Given the description of an element on the screen output the (x, y) to click on. 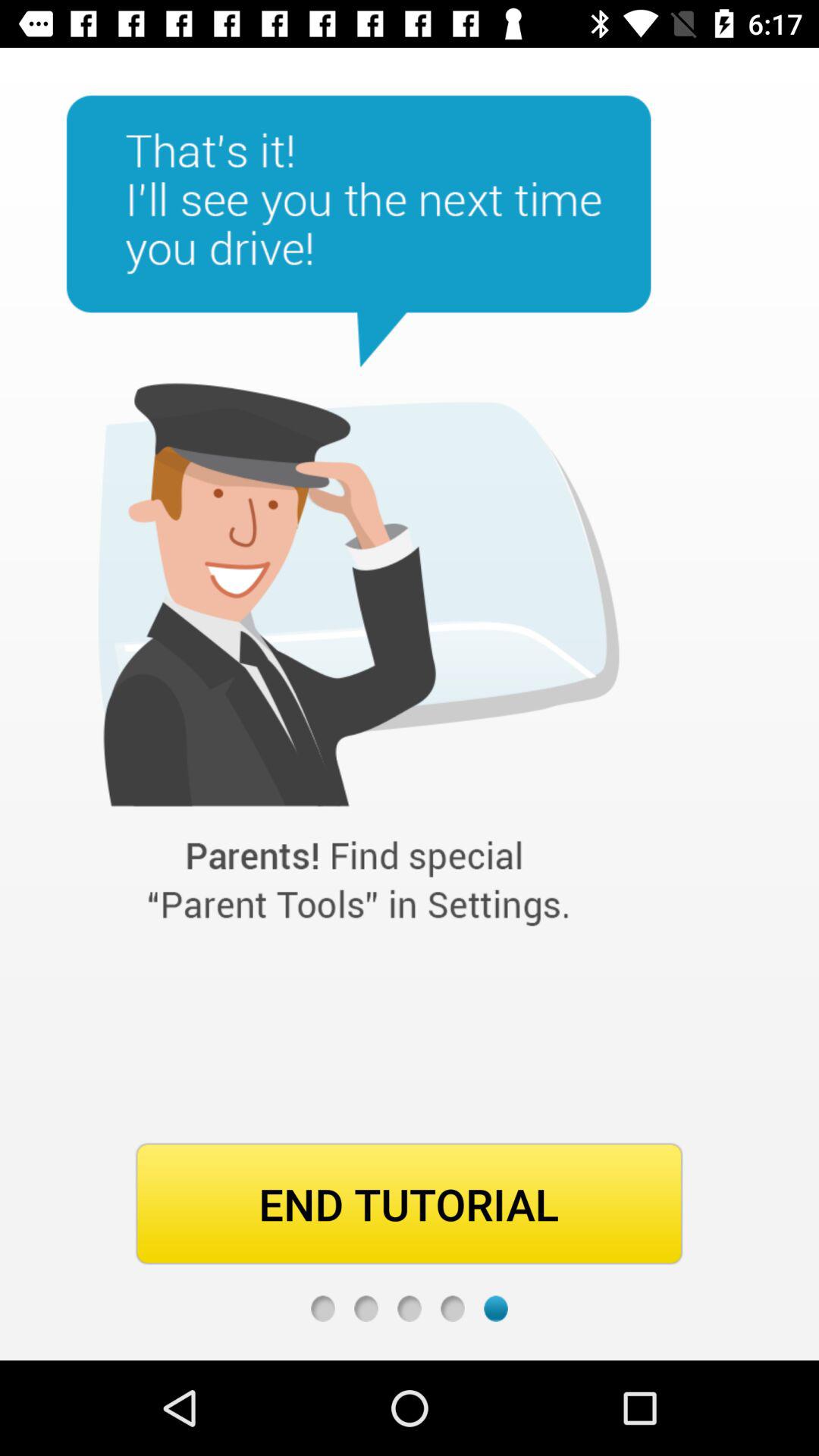
choose second slide (366, 1308)
